Given the description of an element on the screen output the (x, y) to click on. 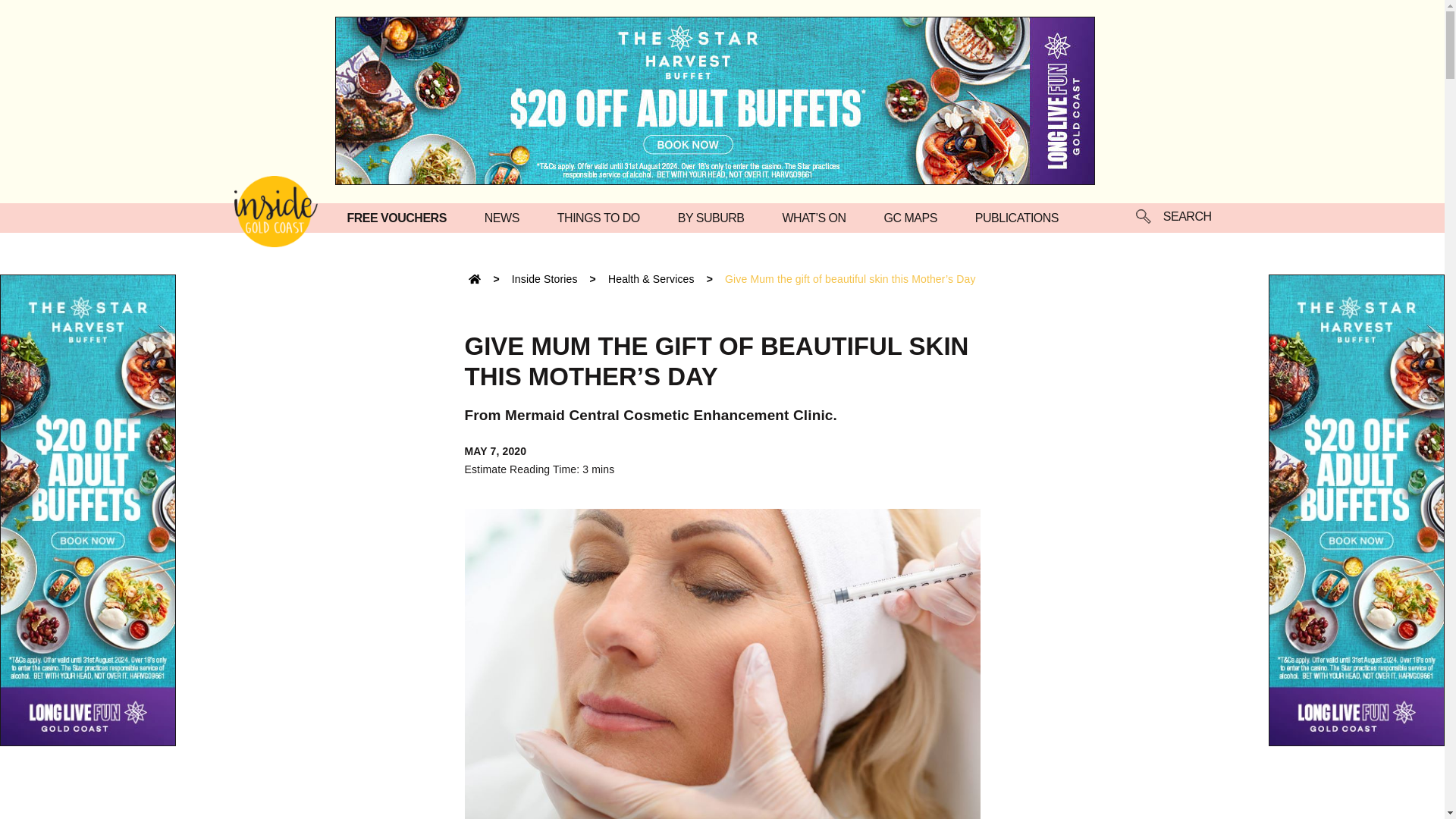
PUBLICATIONS (1020, 217)
THINGS TO DO (602, 217)
FREE VOUCHERS (400, 217)
NEWS (505, 217)
BY SUBURB (715, 217)
GC MAPS (913, 217)
SEARCH (1173, 217)
Inside Stories (545, 278)
